Given the description of an element on the screen output the (x, y) to click on. 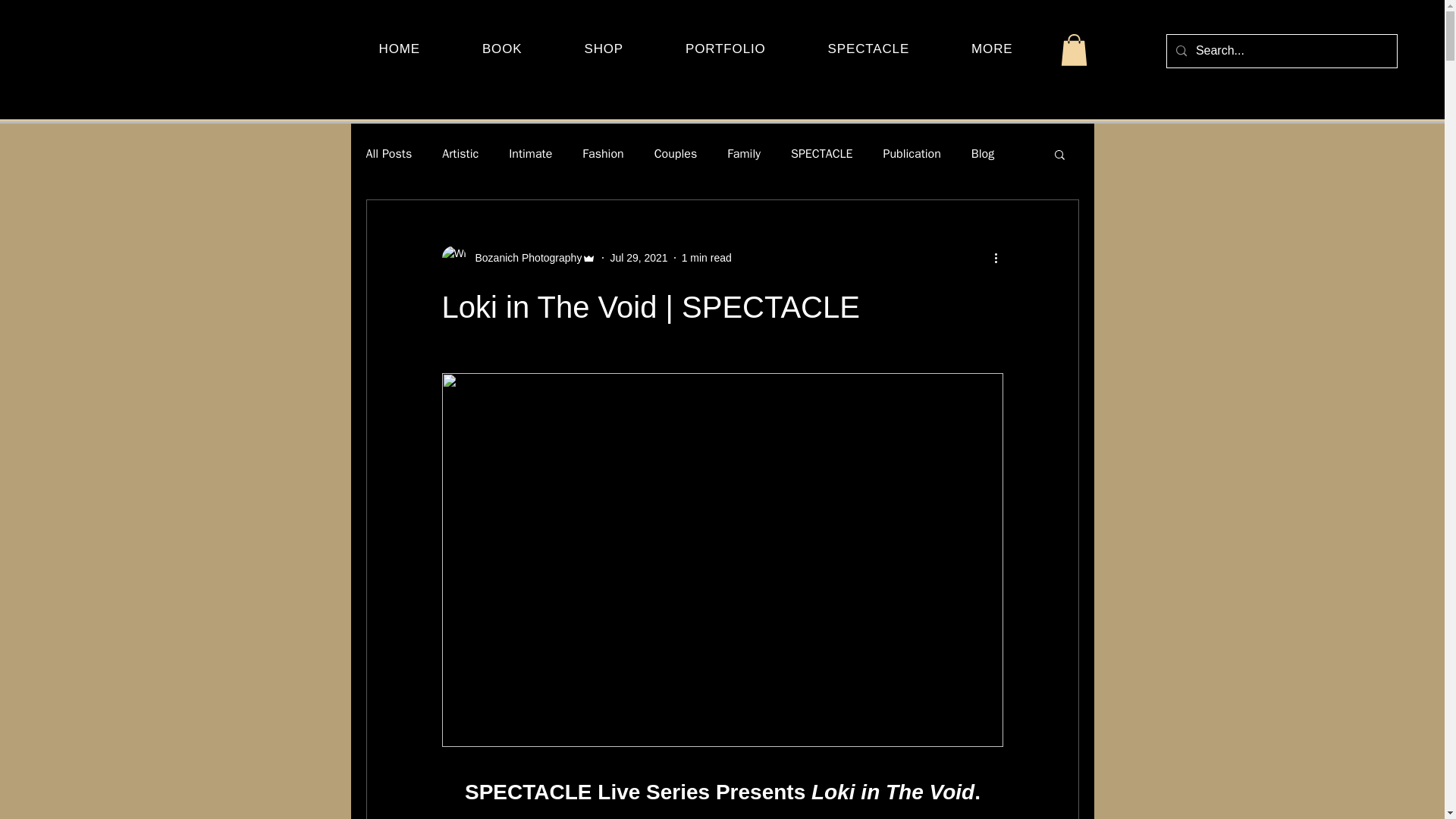
Bozanich Photography (522, 258)
SPECTACLE (868, 49)
HOME (398, 49)
PORTFOLIO (725, 49)
All Posts (388, 153)
Jul 29, 2021 (638, 257)
SHOP (603, 49)
1 min read (706, 257)
